Given the description of an element on the screen output the (x, y) to click on. 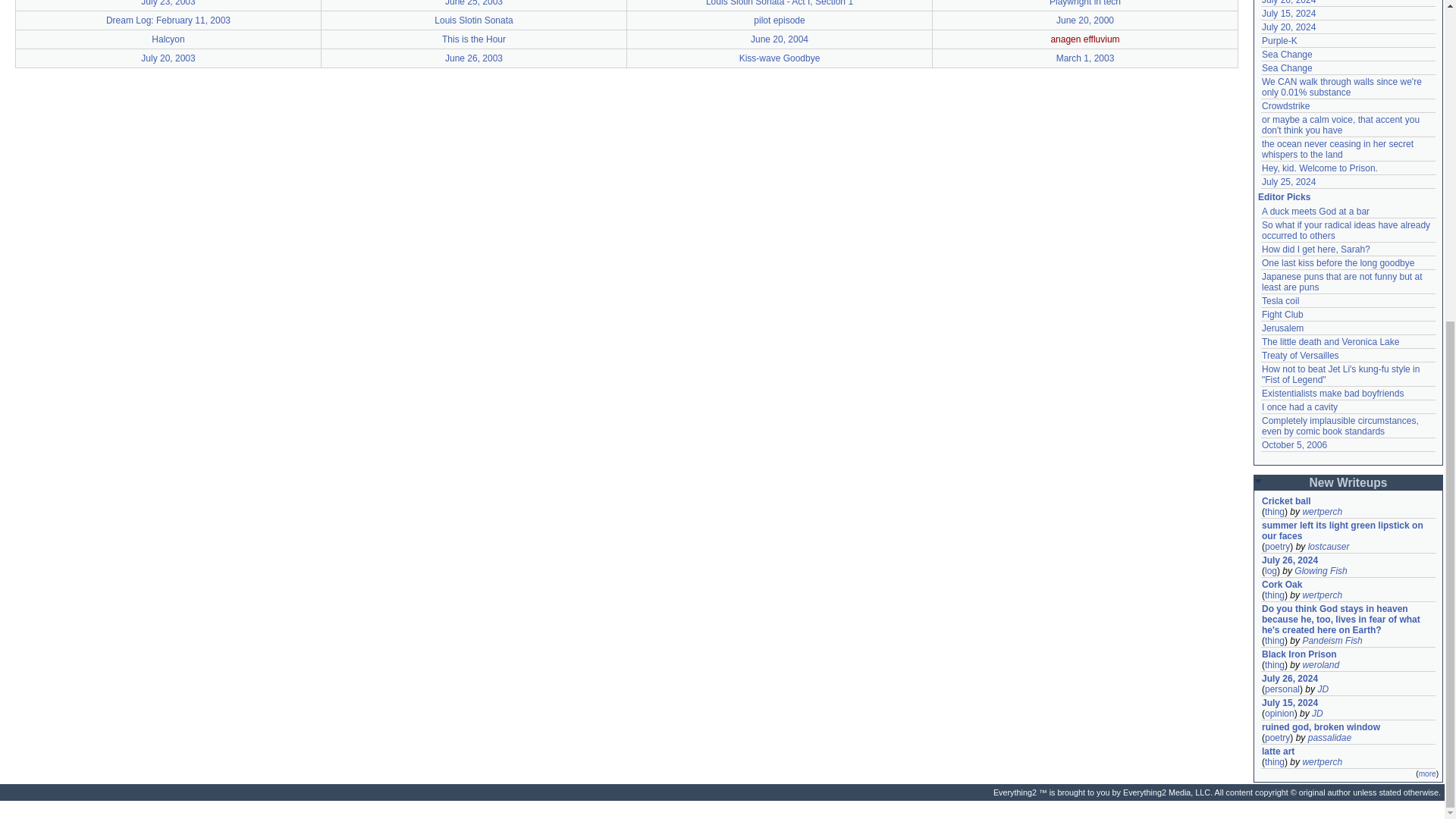
July 23, 2003 (168, 3)
Louis Slotin Sonata - Act I, Section 1 (779, 3)
June 25, 2003 (473, 3)
